Given the description of an element on the screen output the (x, y) to click on. 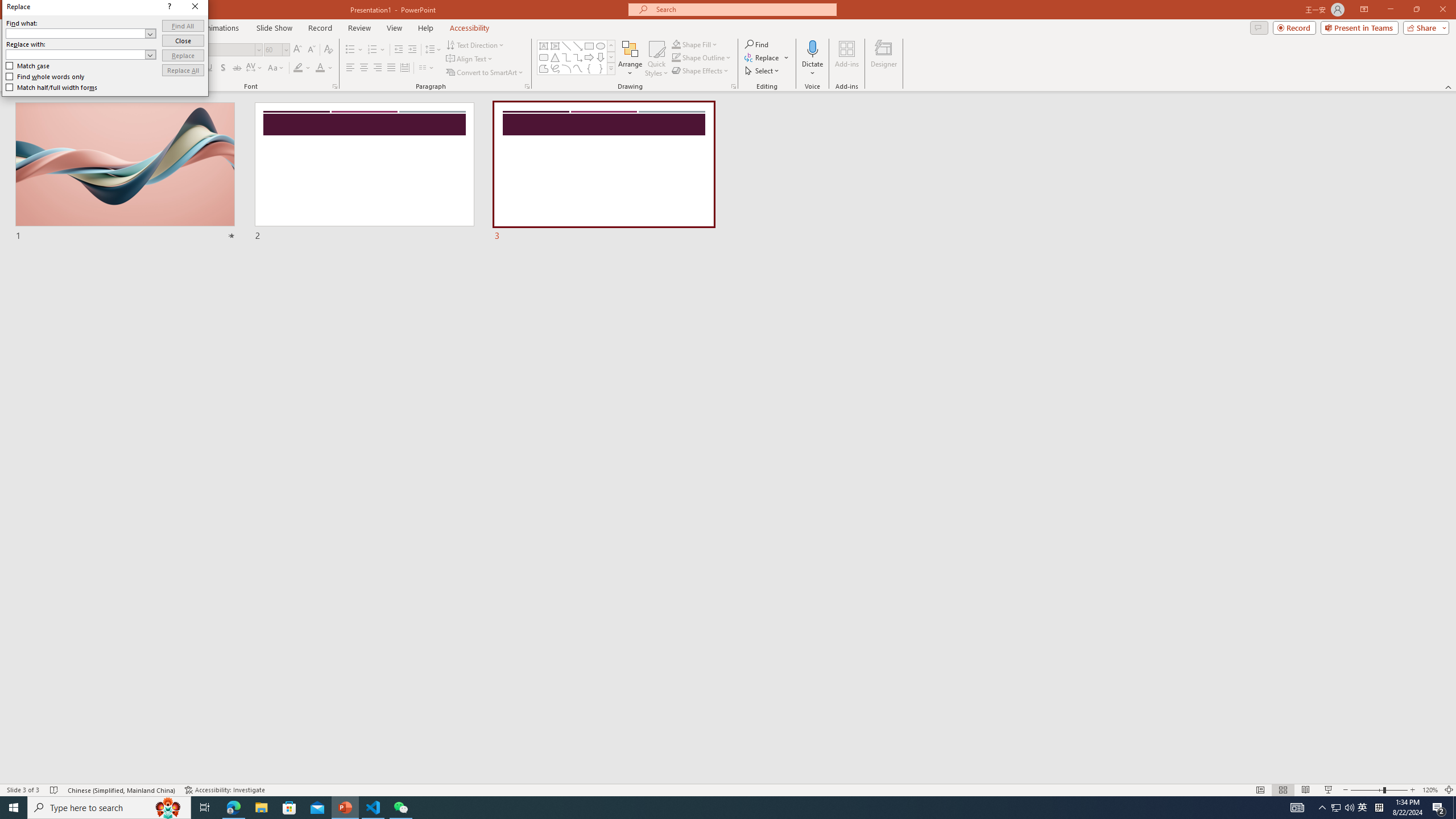
Match case (27, 65)
Shape Fill Orange, Accent 2 (675, 44)
Decrease Font Size (310, 49)
Replace All (183, 69)
Rectangle (589, 45)
WeChat - 1 running window (400, 807)
Zoom 120% (1430, 790)
Font Color (324, 67)
Paragraph... (526, 85)
Distributed (404, 67)
Line Arrow (577, 45)
